Given the description of an element on the screen output the (x, y) to click on. 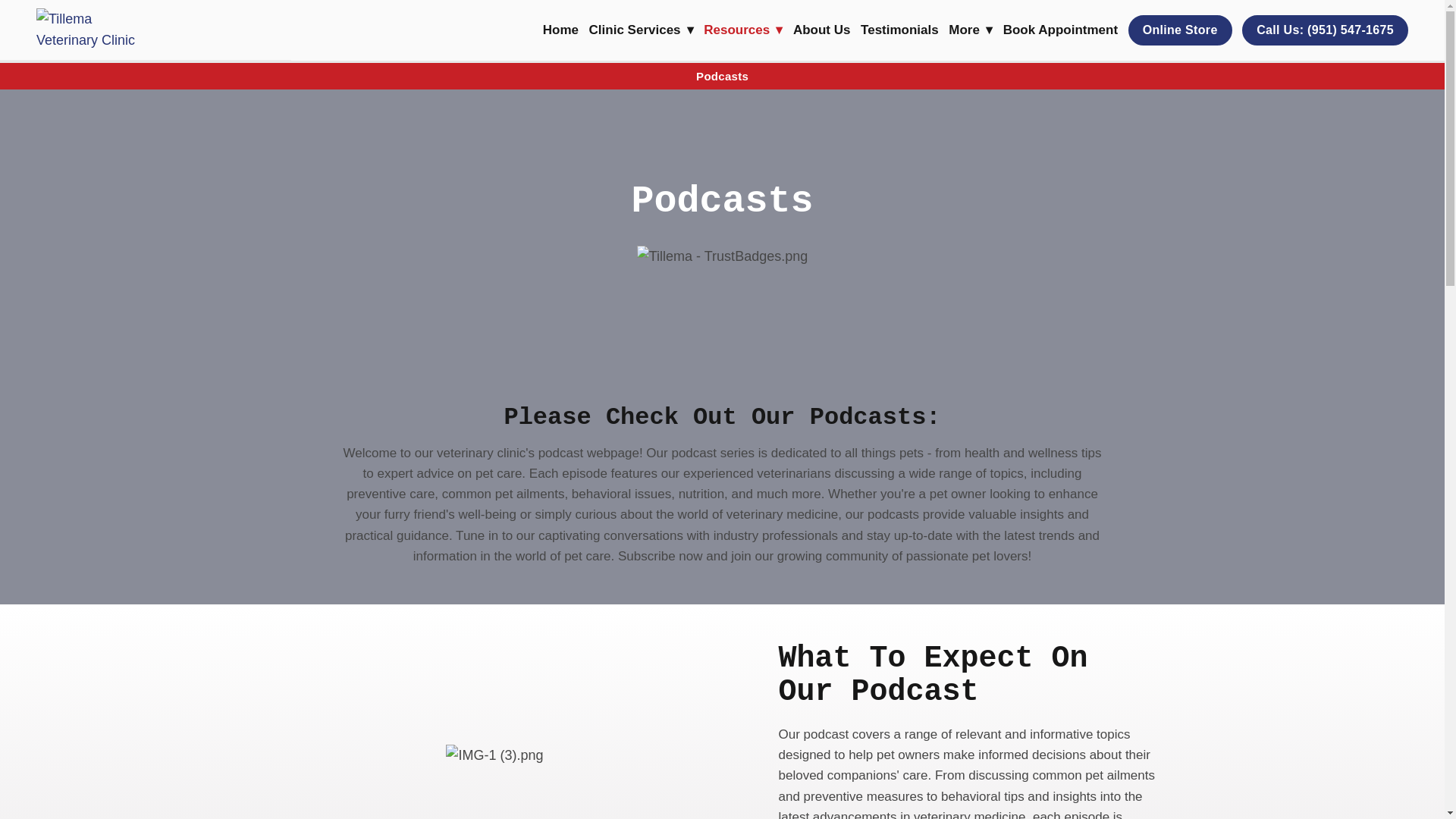
Online Store (1179, 30)
Home (560, 30)
About Us (821, 30)
Testimonials (899, 30)
Tillema Veterinary Clinic (90, 29)
Book Appointment (1060, 30)
